Given the description of an element on the screen output the (x, y) to click on. 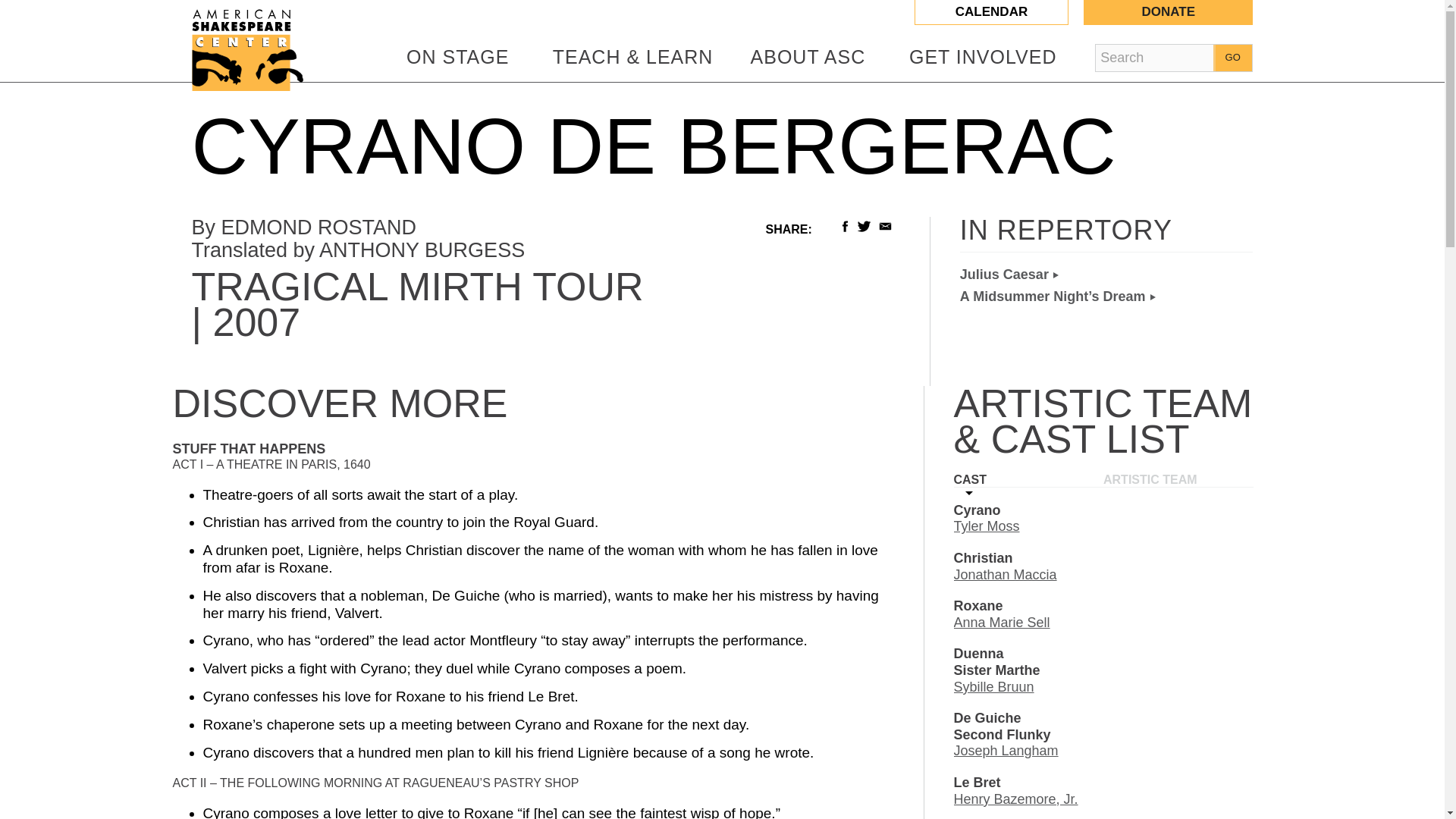
Go (1232, 58)
ON STAGE (457, 56)
American Shakespeare Center (293, 8)
CALENDAR (991, 12)
DONATE (1167, 12)
ABOUT ASC (808, 56)
Go (1232, 58)
Search (1155, 58)
